Given the description of an element on the screen output the (x, y) to click on. 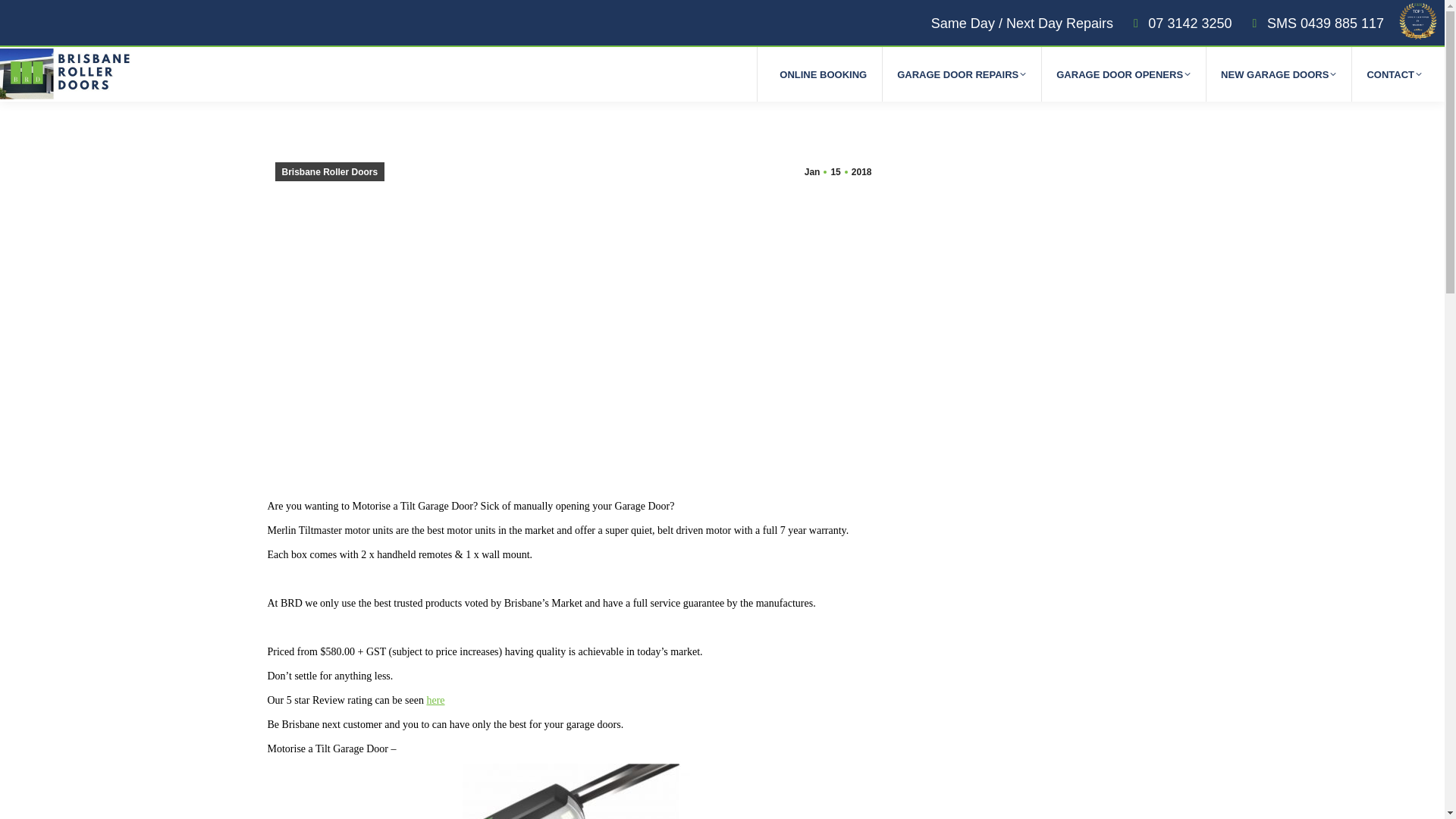
CONTACT (1393, 74)
GARAGE DOOR REPAIRS (961, 74)
NEW GARAGE DOORS (1277, 74)
3:11 am (837, 171)
SMS 0439 885 117 (1315, 23)
ONLINE BOOKING (823, 74)
GARAGE DOOR OPENERS (1123, 74)
